Given the description of an element on the screen output the (x, y) to click on. 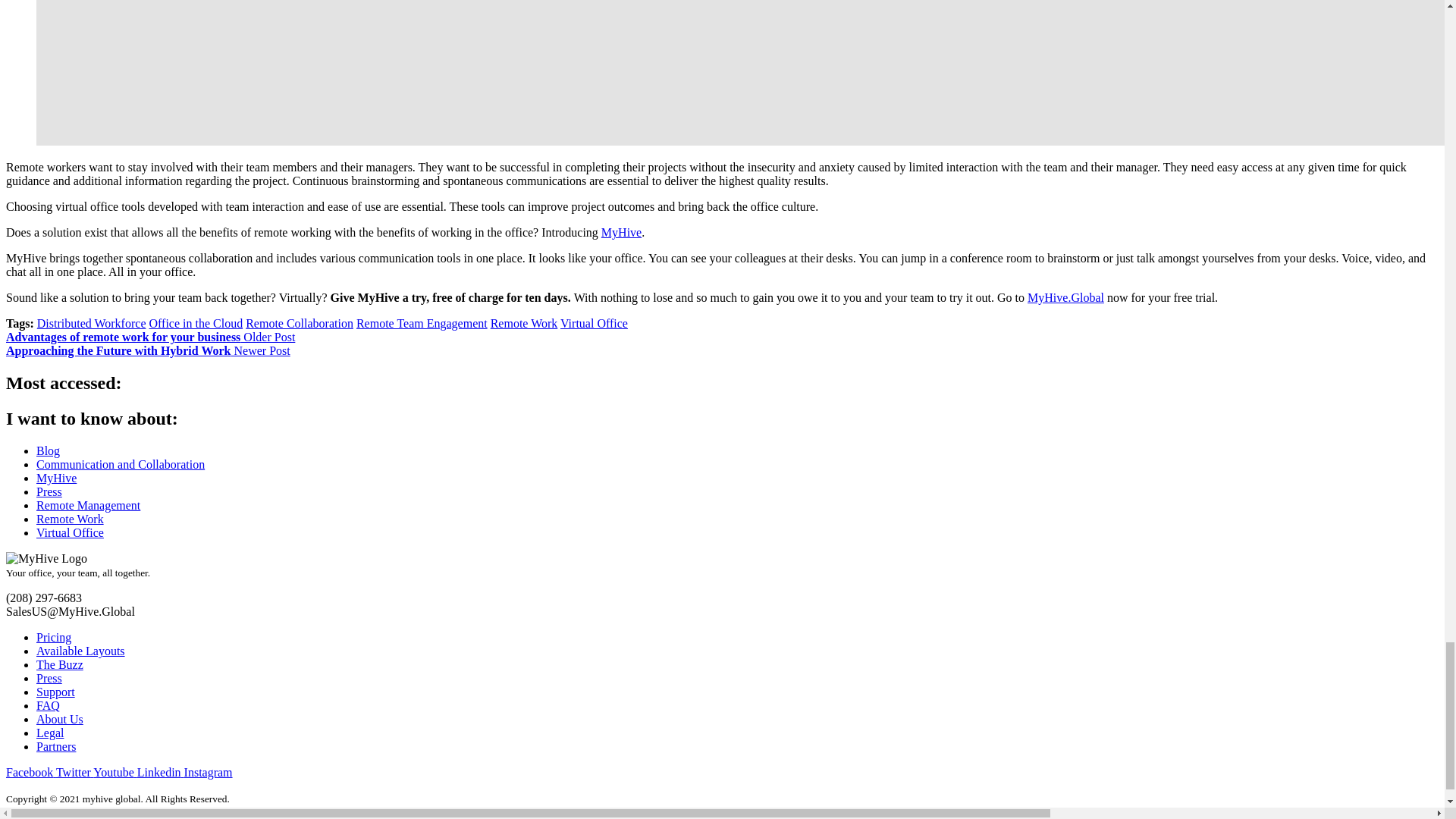
Blog (47, 450)
Approaching the Future with Hybrid Work (147, 350)
MyHive (621, 232)
Office in the Cloud (195, 323)
Virtual Office (593, 323)
Advantages of remote work for your business (150, 336)
Distributed Workforce (92, 323)
MyHive (56, 477)
Advantages of remote work for your business Older Post (150, 336)
Remote Work (523, 323)
Remote Team Engagement (421, 323)
Communication and Collaboration (120, 463)
Press (49, 491)
Approaching the Future with Hybrid Work Newer Post (147, 350)
Remote Collaboration (299, 323)
